Given the description of an element on the screen output the (x, y) to click on. 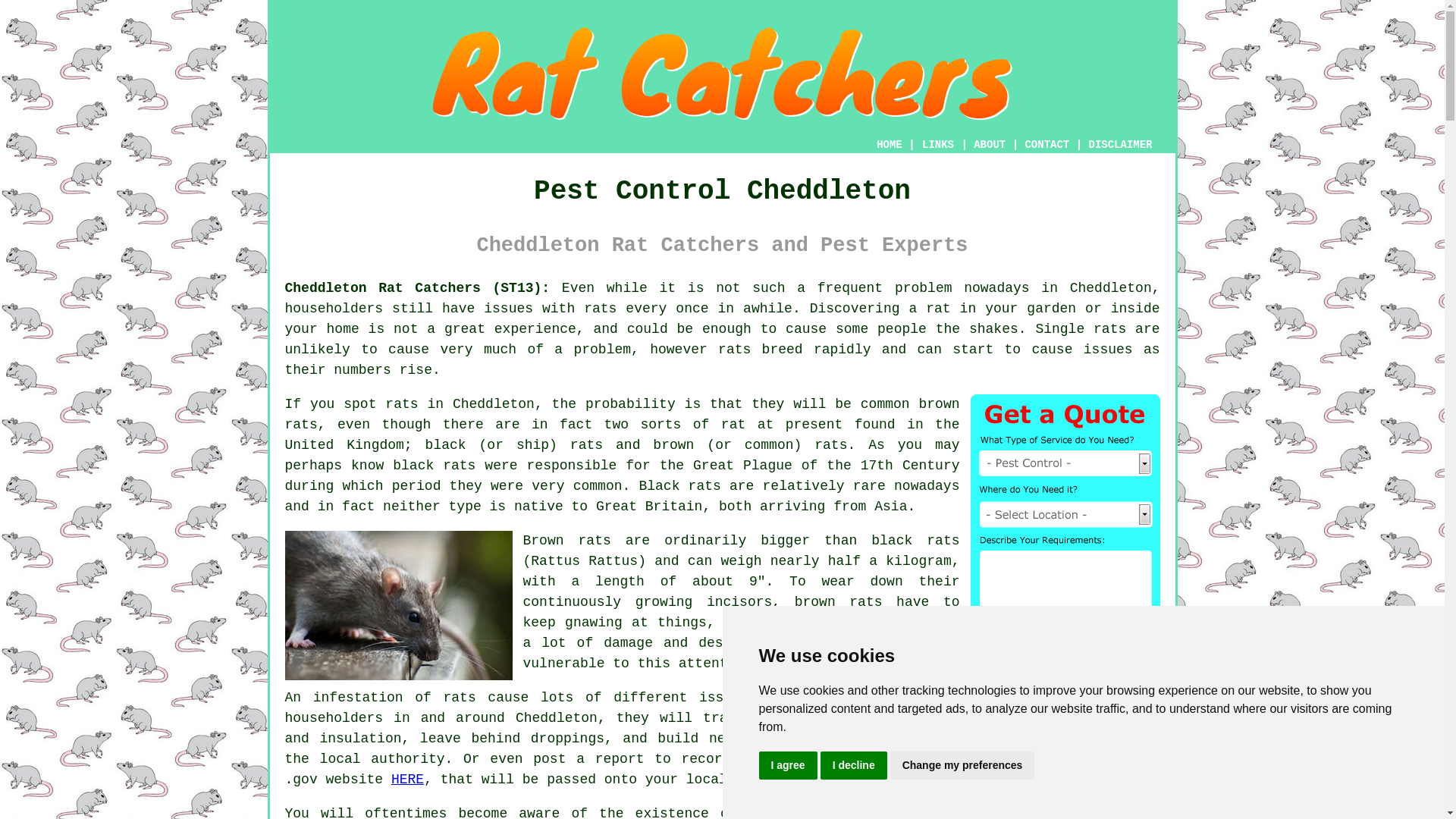
LINKS (938, 144)
I decline (853, 765)
I agree (787, 765)
Rat Catchers Cheddleton (721, 73)
HOME (889, 144)
Change my preferences (962, 765)
